Given the description of an element on the screen output the (x, y) to click on. 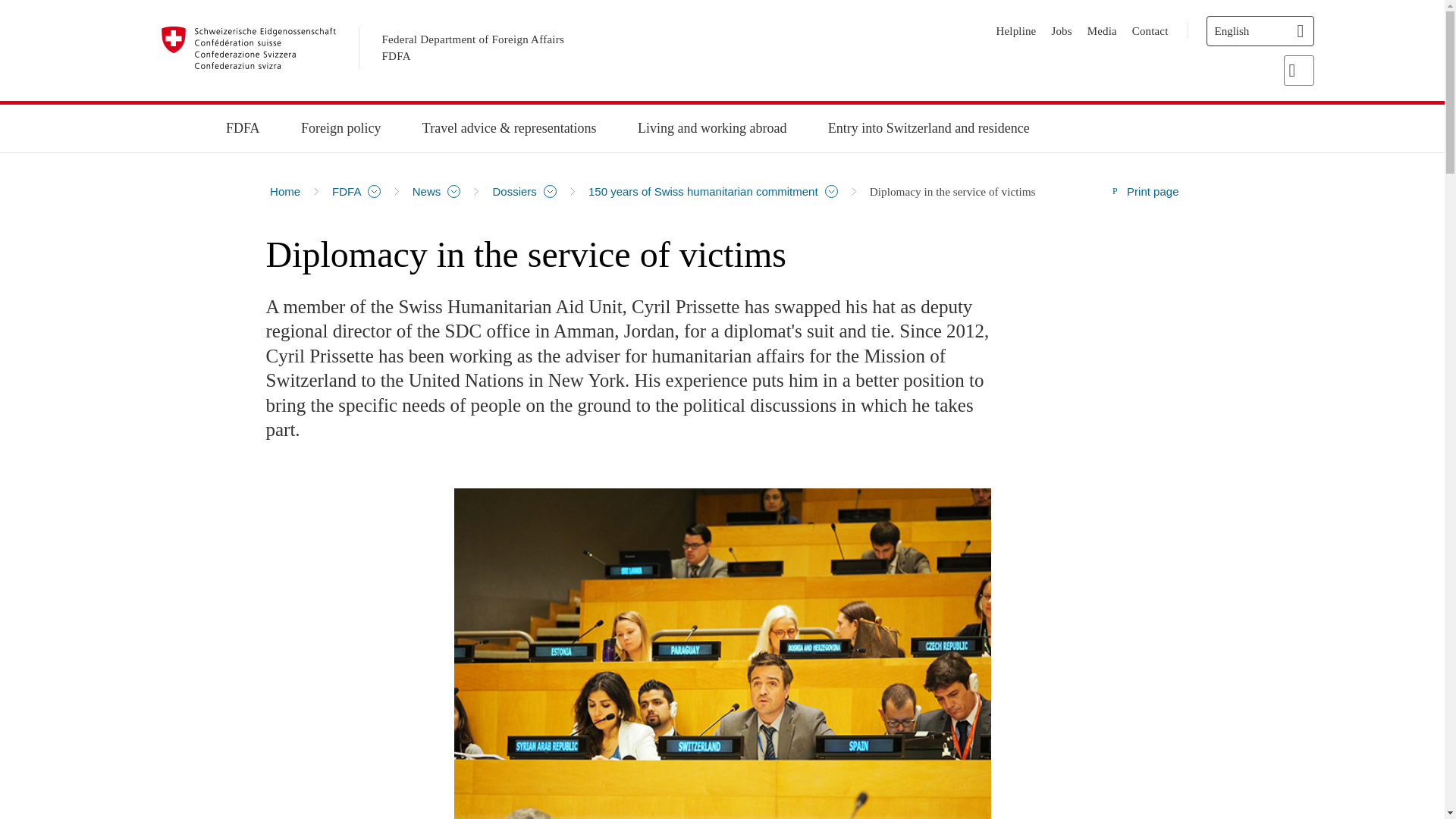
Media (1101, 30)
Helpline (1015, 30)
Contact (1150, 30)
Jobs (1061, 30)
Federal Department of Foreign Affairs FDFA (472, 48)
